Given the description of an element on the screen output the (x, y) to click on. 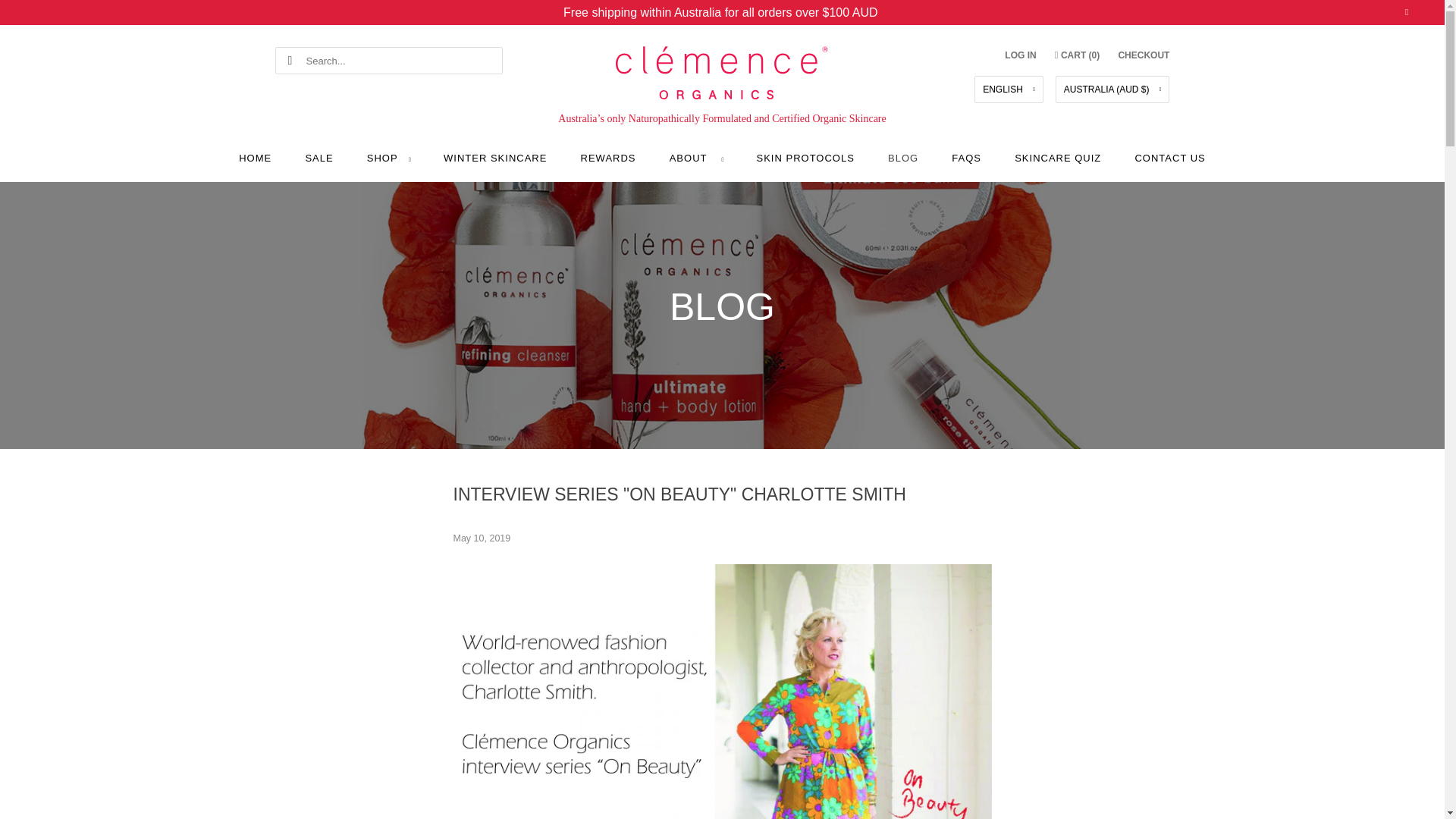
Blog (722, 306)
LOG IN (1019, 55)
CHECKOUT (1143, 55)
ENGLISH (1008, 89)
